Given the description of an element on the screen output the (x, y) to click on. 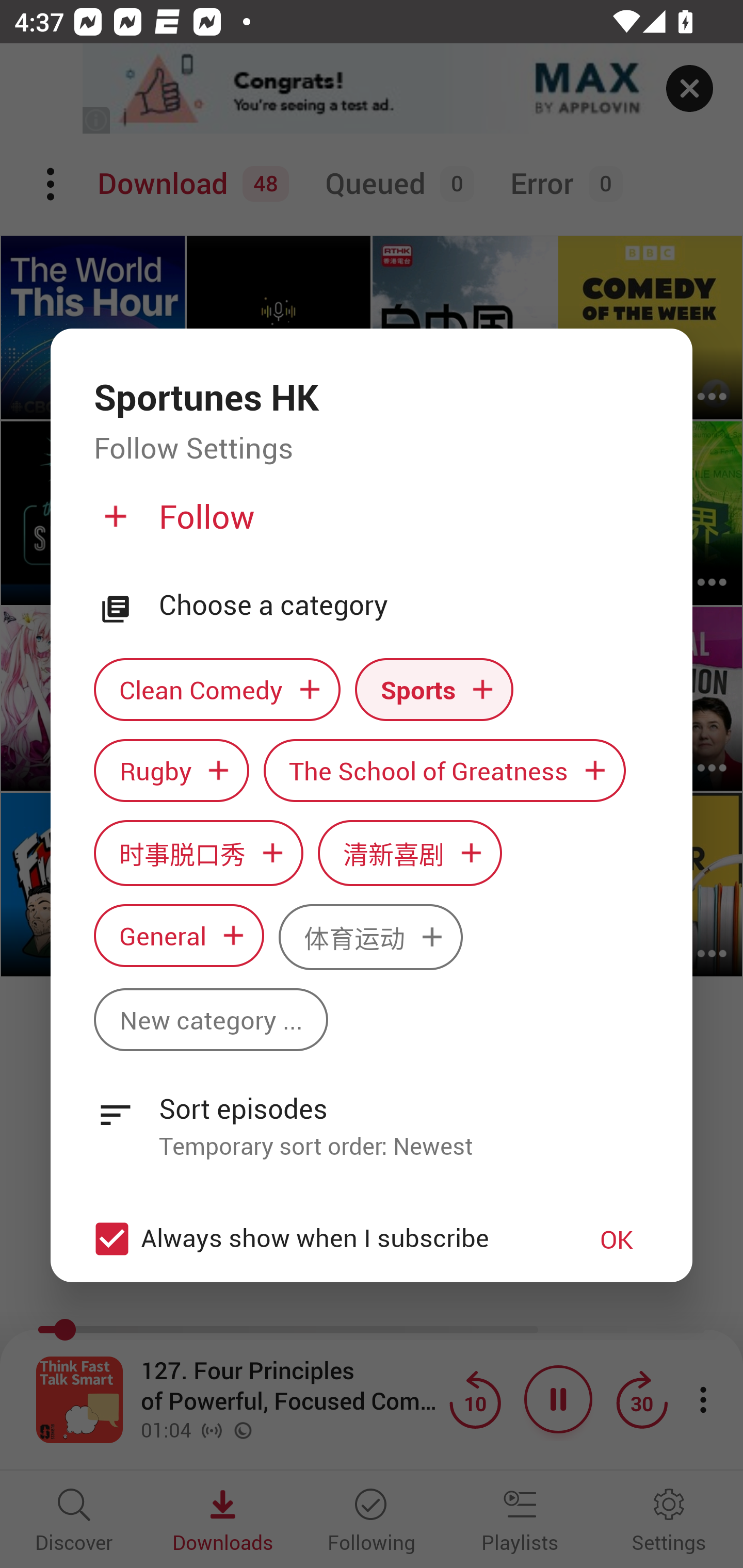
Follow (369, 525)
Choose a category (404, 604)
Clean Comedy (216, 689)
Sports (434, 689)
Rugby (170, 770)
The School of Greatness (444, 770)
时事脱口秀 (198, 852)
清新喜剧 (410, 852)
General (178, 935)
体育运动 (370, 937)
New category ... (210, 1018)
Sort episodes Temporary sort order: Newest (371, 1116)
OK (616, 1238)
Always show when I subscribe (320, 1239)
